Given the description of an element on the screen output the (x, y) to click on. 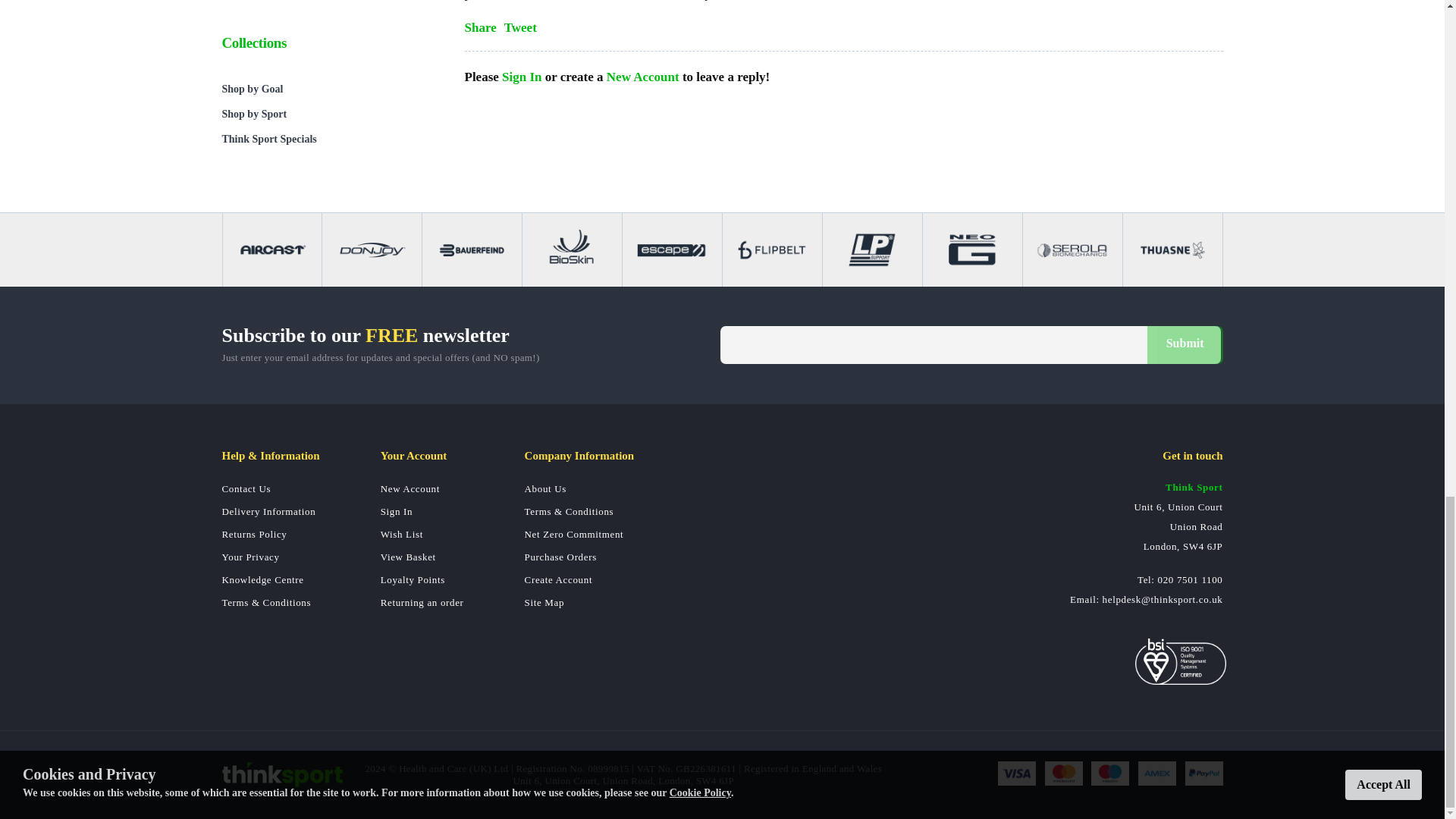
Neo G (972, 249)
Serola (1072, 249)
FlipBelt (771, 249)
Escape Fitness (672, 249)
BioSkin (571, 249)
Think Sport Specials (327, 139)
LP Supports (871, 249)
Shop by Goal (327, 89)
Shop by Sport (327, 114)
